Given the description of an element on the screen output the (x, y) to click on. 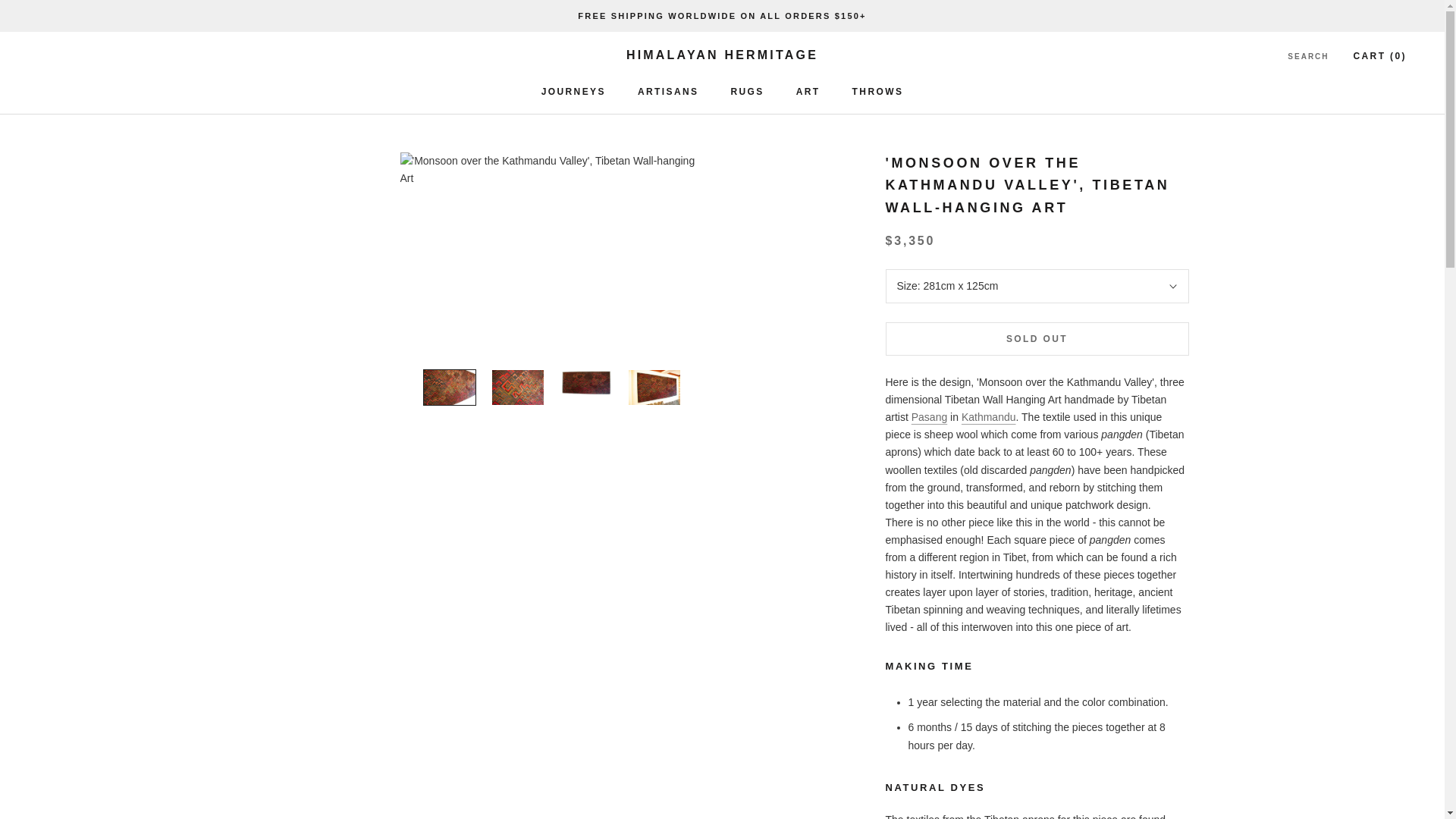
SEARCH (746, 91)
HIMALAYAN HERMITAGE (667, 91)
ART (1307, 56)
